Given the description of an element on the screen output the (x, y) to click on. 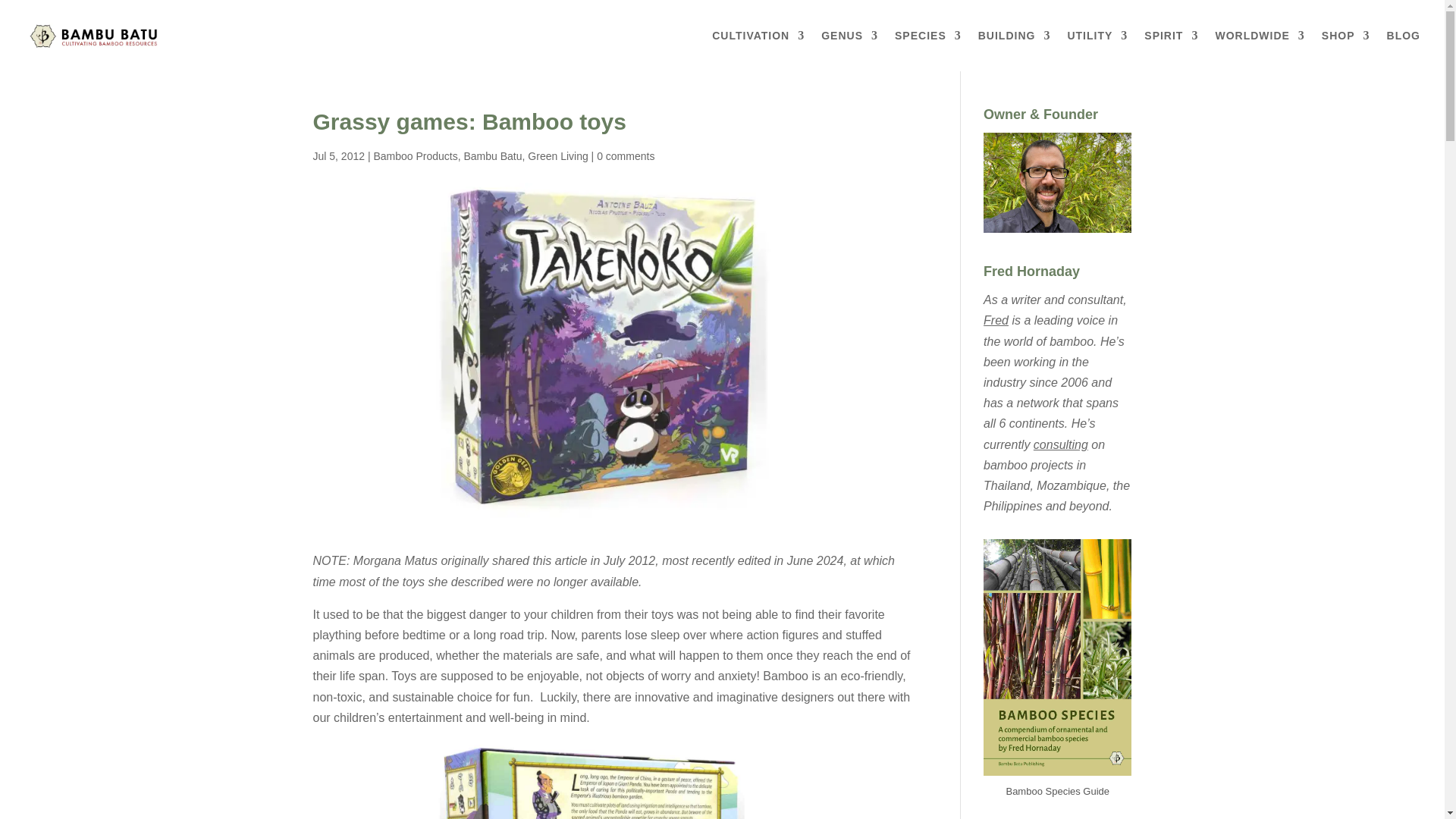
SPECIES (927, 50)
BUILDING (1014, 50)
GENUS (849, 50)
CULTIVATION (758, 50)
